Given the description of an element on the screen output the (x, y) to click on. 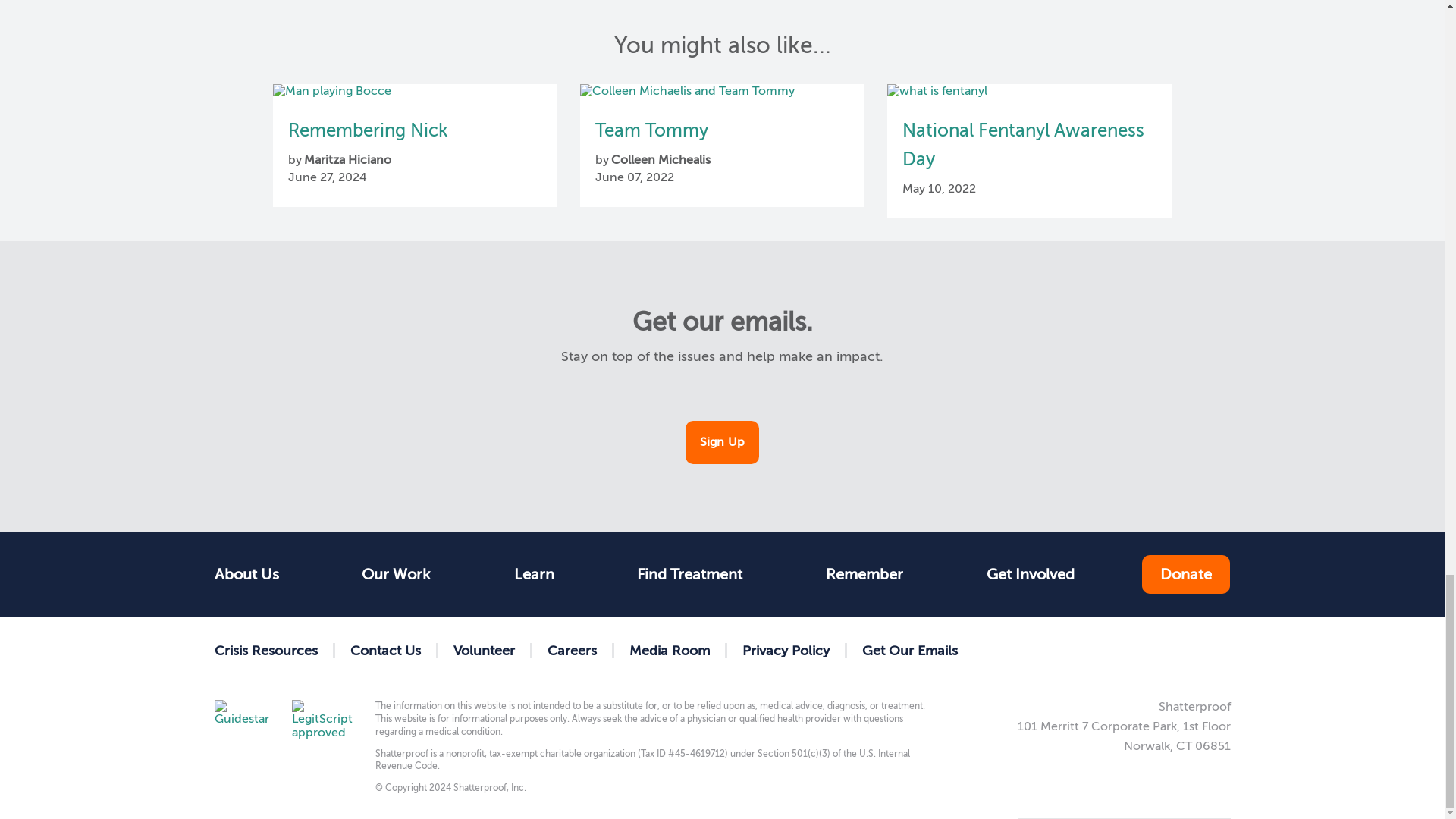
Donate (1185, 574)
Find Help (534, 574)
Instagram (1170, 650)
Twitter (1122, 650)
Facebook (1074, 650)
Get Involved (1030, 574)
About Us (254, 574)
Email (1219, 650)
Our Work (395, 574)
Press Room (669, 650)
